Given the description of an element on the screen output the (x, y) to click on. 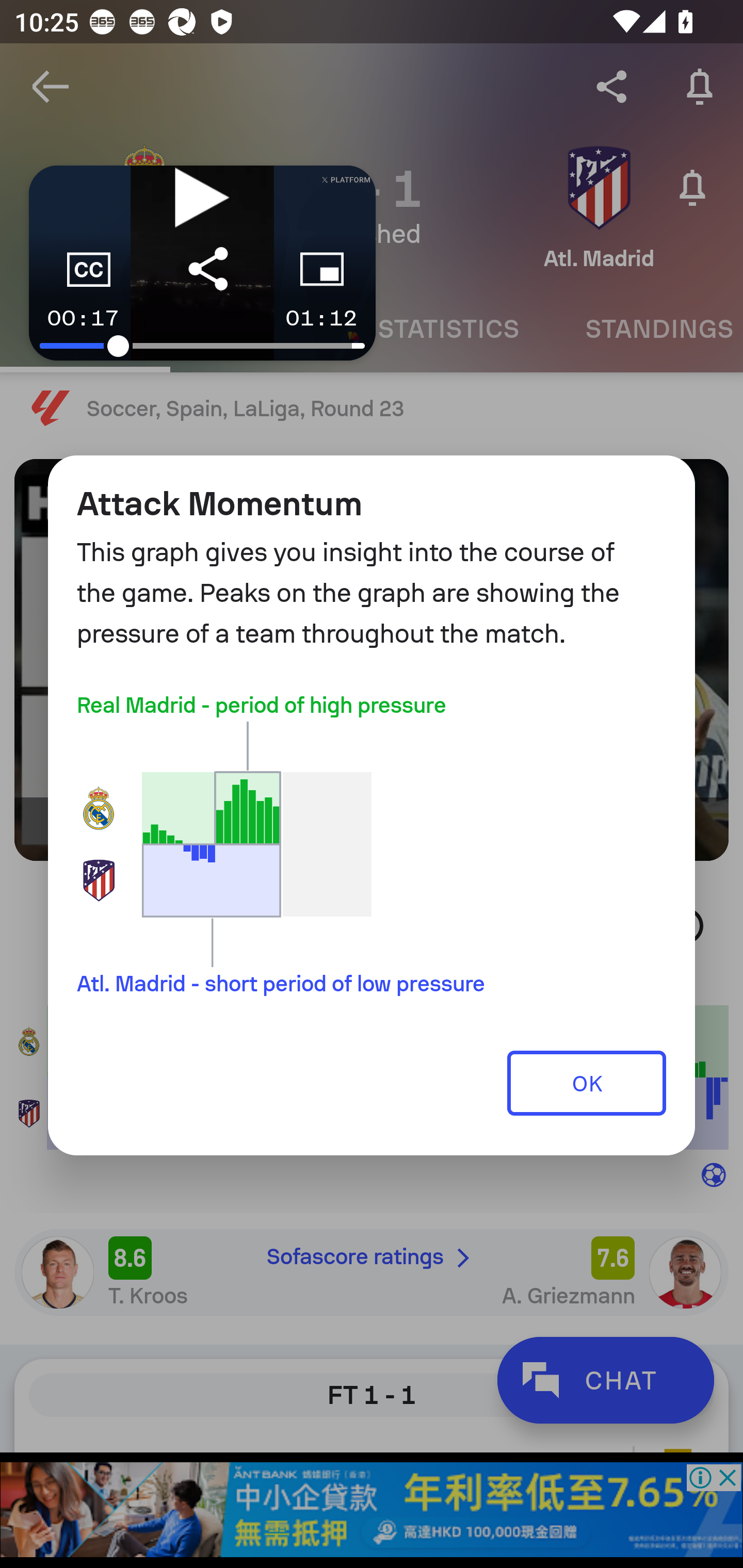
OK (586, 1082)
